Given the description of an element on the screen output the (x, y) to click on. 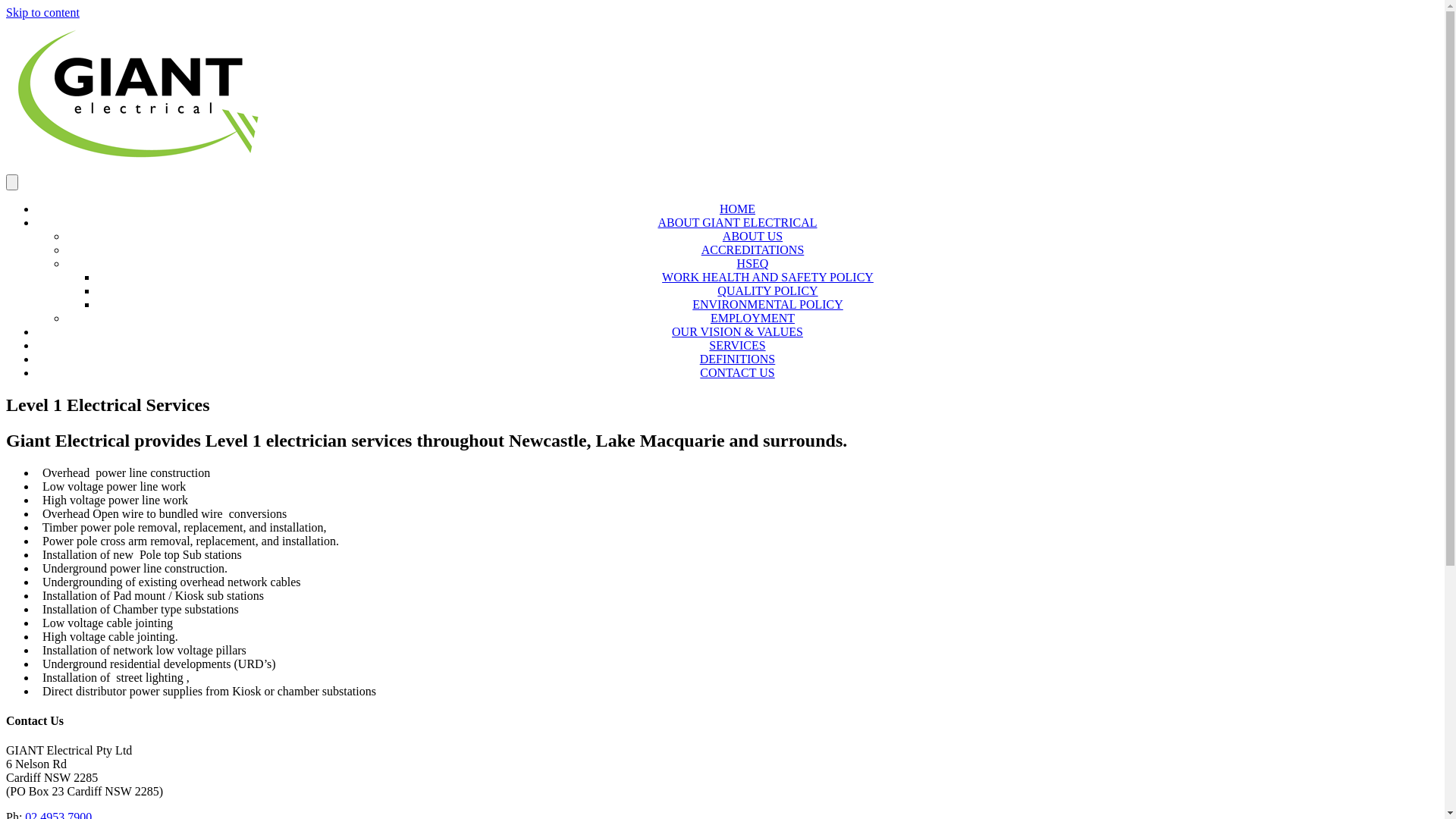
ABOUT US Element type: text (752, 235)
ACCREDITATIONS Element type: text (752, 249)
Skip to content Element type: text (42, 12)
Giant Electrical Newcastle Element type: hover (139, 95)
DEFINITIONS Element type: text (737, 358)
HOME Element type: text (737, 208)
HSEQ Element type: text (752, 263)
QUALITY POLICY Element type: text (767, 290)
ABOUT GIANT ELECTRICAL Element type: text (736, 222)
WORK HEALTH AND SAFETY POLICY Element type: text (767, 276)
CONTACT US Element type: text (736, 372)
EMPLOYMENT Element type: text (752, 317)
OUR VISION & VALUES Element type: text (737, 331)
SERVICES Element type: text (737, 344)
ENVIRONMENTAL POLICY Element type: text (767, 304)
